Given the description of an element on the screen output the (x, y) to click on. 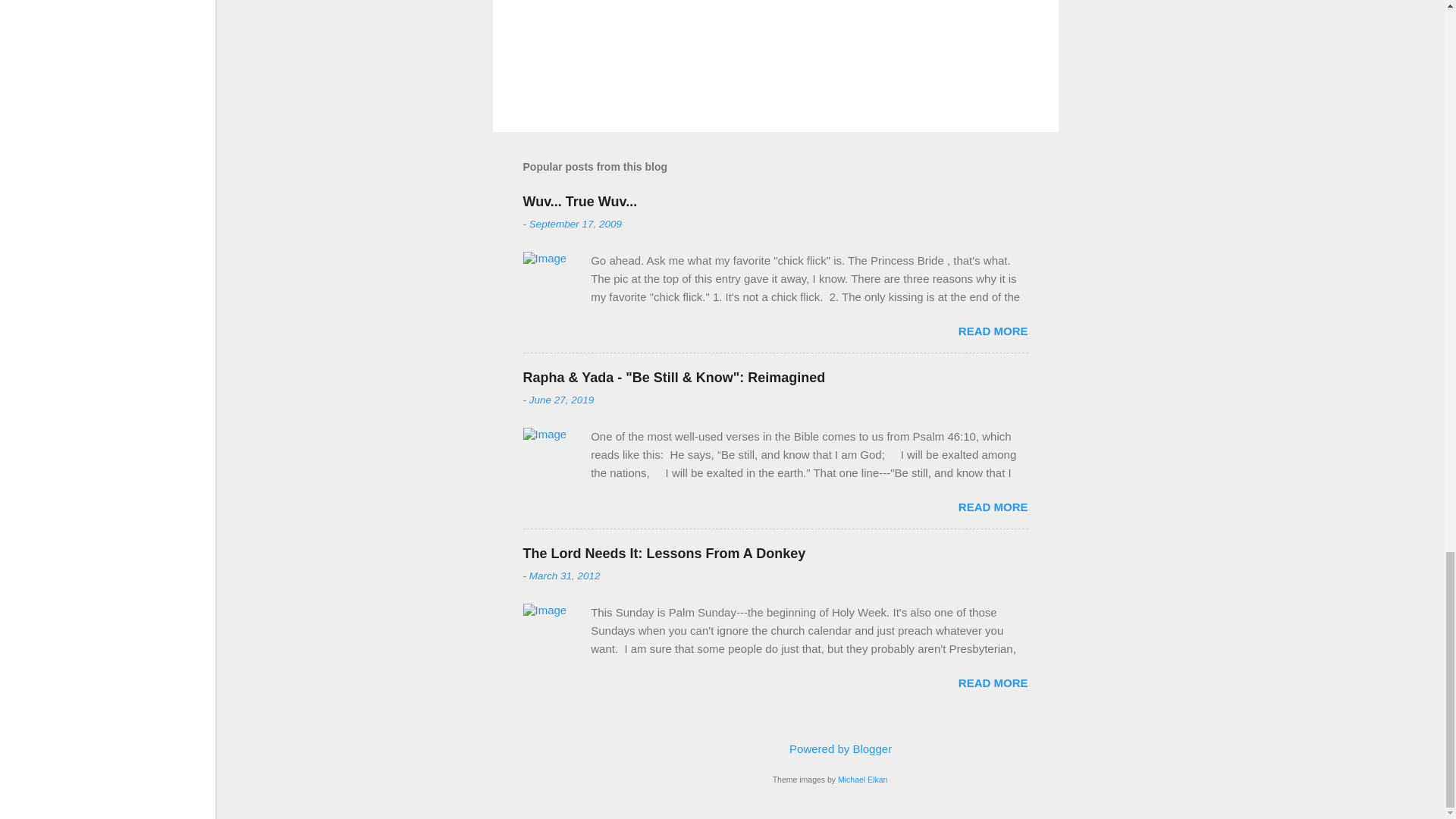
Michael Elkan (862, 778)
March 31, 2012 (564, 575)
READ MORE (992, 682)
The Lord Needs It: Lessons From A Donkey (664, 553)
READ MORE (992, 330)
September 17, 2009 (575, 224)
READ MORE (992, 506)
Wuv... True Wuv... (579, 201)
June 27, 2019 (561, 399)
Powered by Blogger (829, 748)
